Given the description of an element on the screen output the (x, y) to click on. 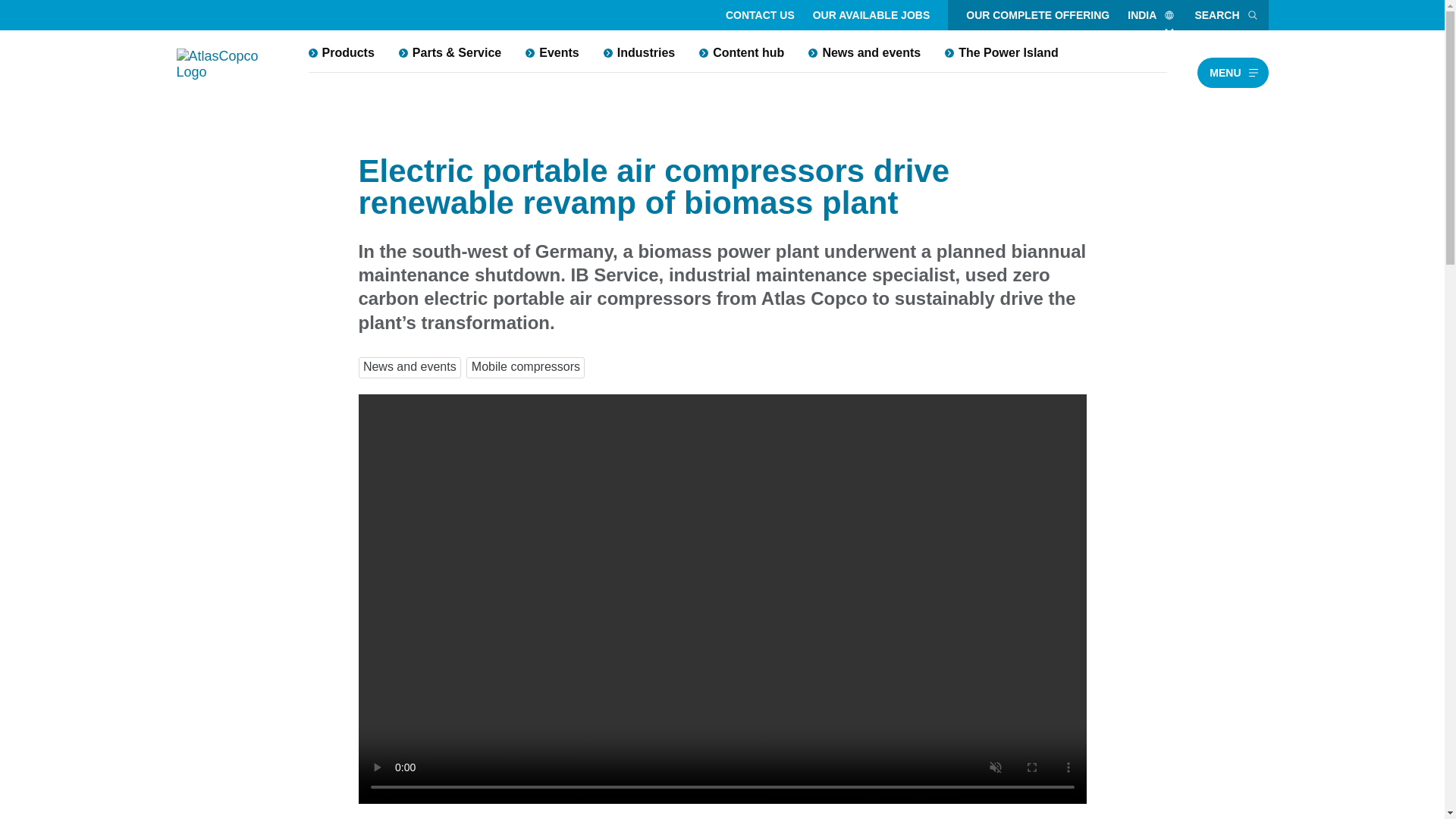
OUR COMPLETE OFFERING (1037, 15)
MENU (1232, 72)
Events (552, 52)
The Power Island (1001, 52)
Content hub (741, 52)
CONTACT US (759, 15)
Industries (639, 52)
OUR AVAILABLE JOBS (871, 15)
INDIA (1151, 15)
SEARCH (1226, 15)
